Given the description of an element on the screen output the (x, y) to click on. 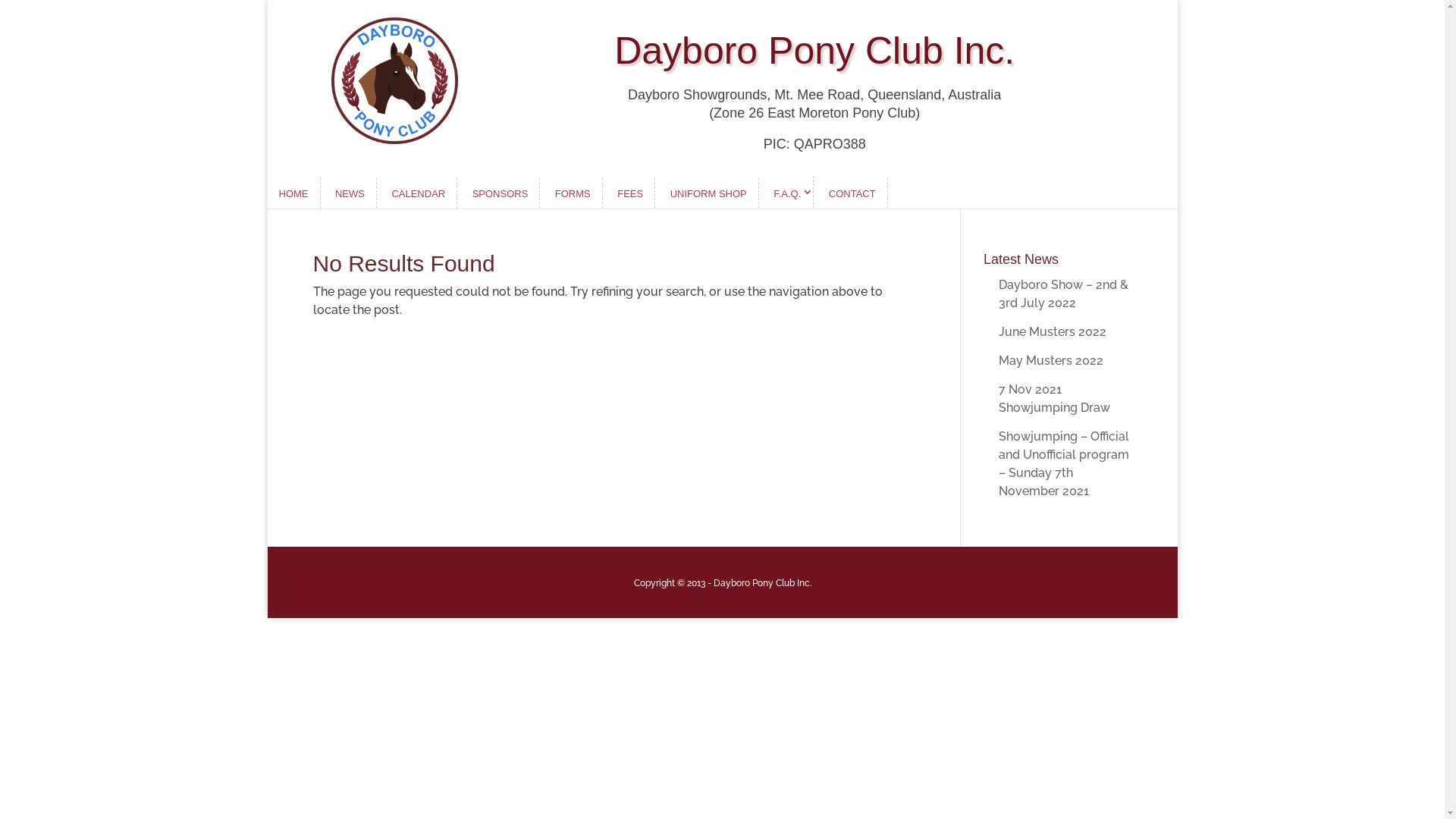
June Musters 2022 Element type: text (1052, 331)
7 Nov 2021 Showjumping Draw Element type: text (1054, 398)
SPONSORS Element type: text (500, 193)
CALENDAR Element type: text (418, 193)
FEES Element type: text (630, 193)
F.A.Q. Element type: text (787, 191)
FORMS Element type: text (572, 193)
May Musters 2022 Element type: text (1050, 360)
UNIFORM SHOP Element type: text (708, 193)
NEWS Element type: text (349, 193)
CONTACT Element type: text (852, 193)
HOME Element type: text (293, 193)
